Given the description of an element on the screen output the (x, y) to click on. 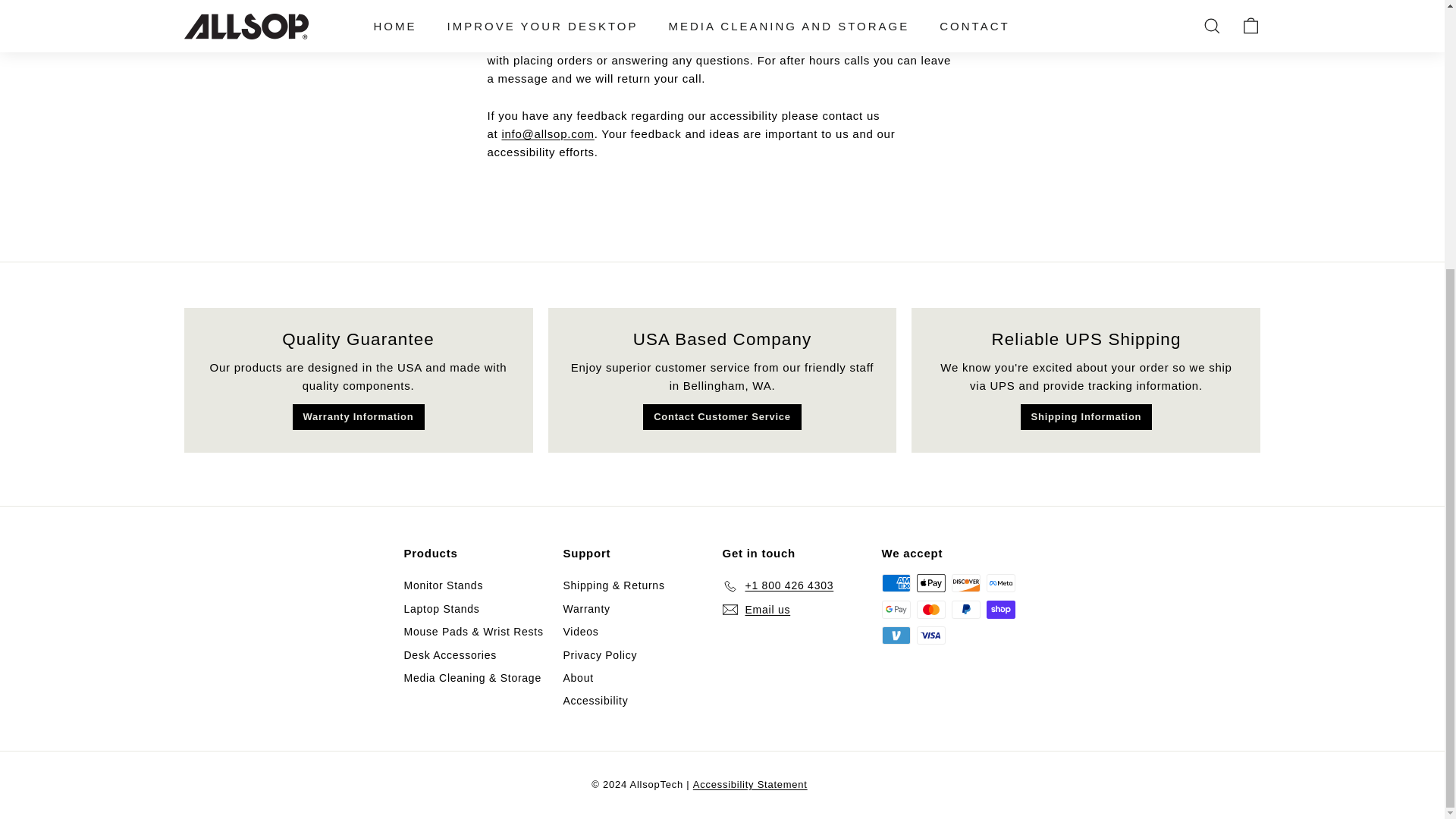
Monitor Stands (443, 585)
Shop Pay (999, 609)
Google Pay (895, 609)
Visa (929, 635)
Discover (964, 583)
Meta Pay (999, 583)
American Express (895, 583)
Shipping Information (1086, 416)
Apple Pay (929, 583)
Laptop Stands (441, 608)
Mastercard (929, 609)
Desk Accessories (449, 654)
Warranty Information (358, 416)
Contact Customer Service (722, 416)
PayPal (964, 609)
